Given the description of an element on the screen output the (x, y) to click on. 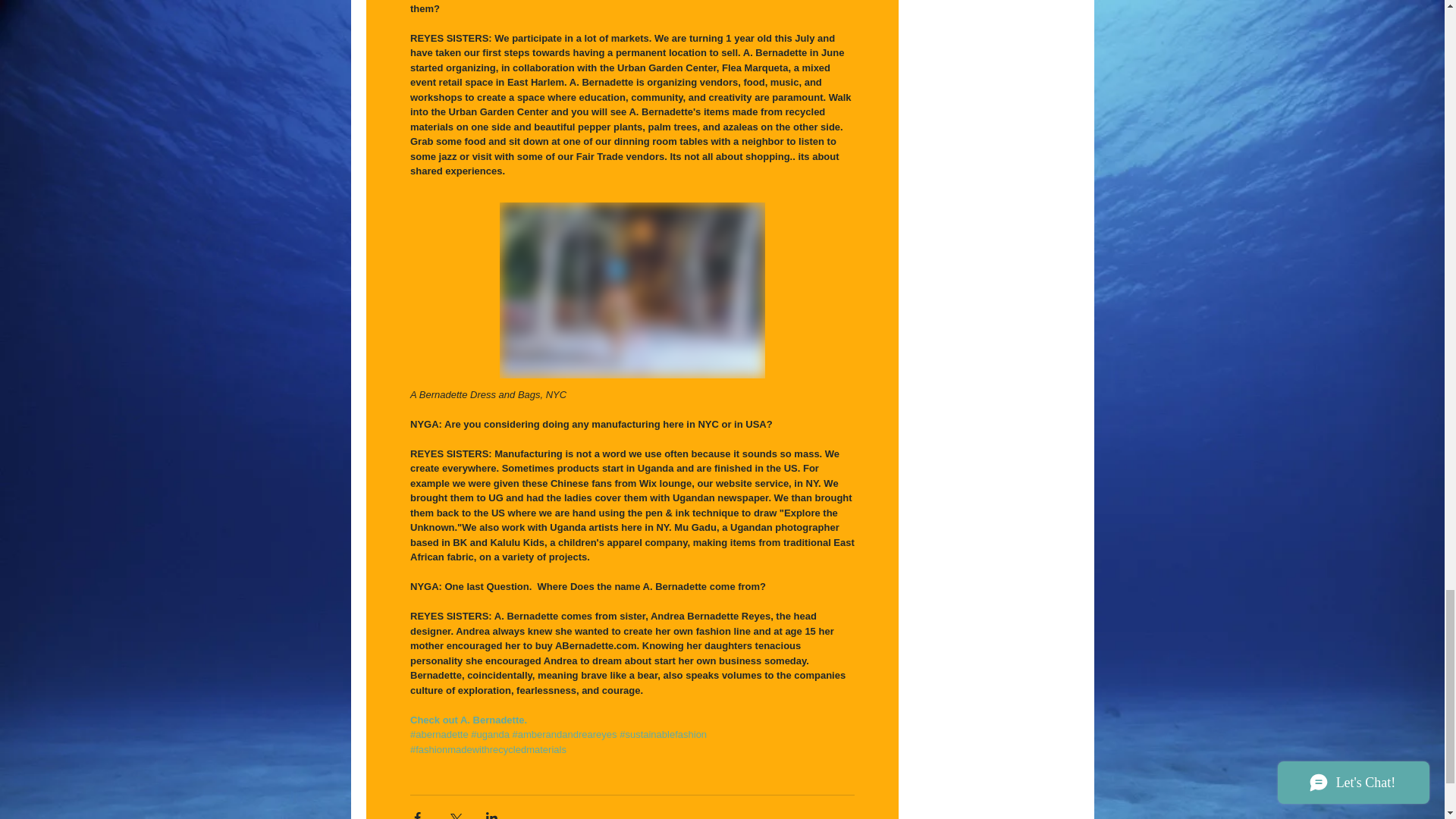
Check out A. Bernadette. (467, 718)
